Given the description of an element on the screen output the (x, y) to click on. 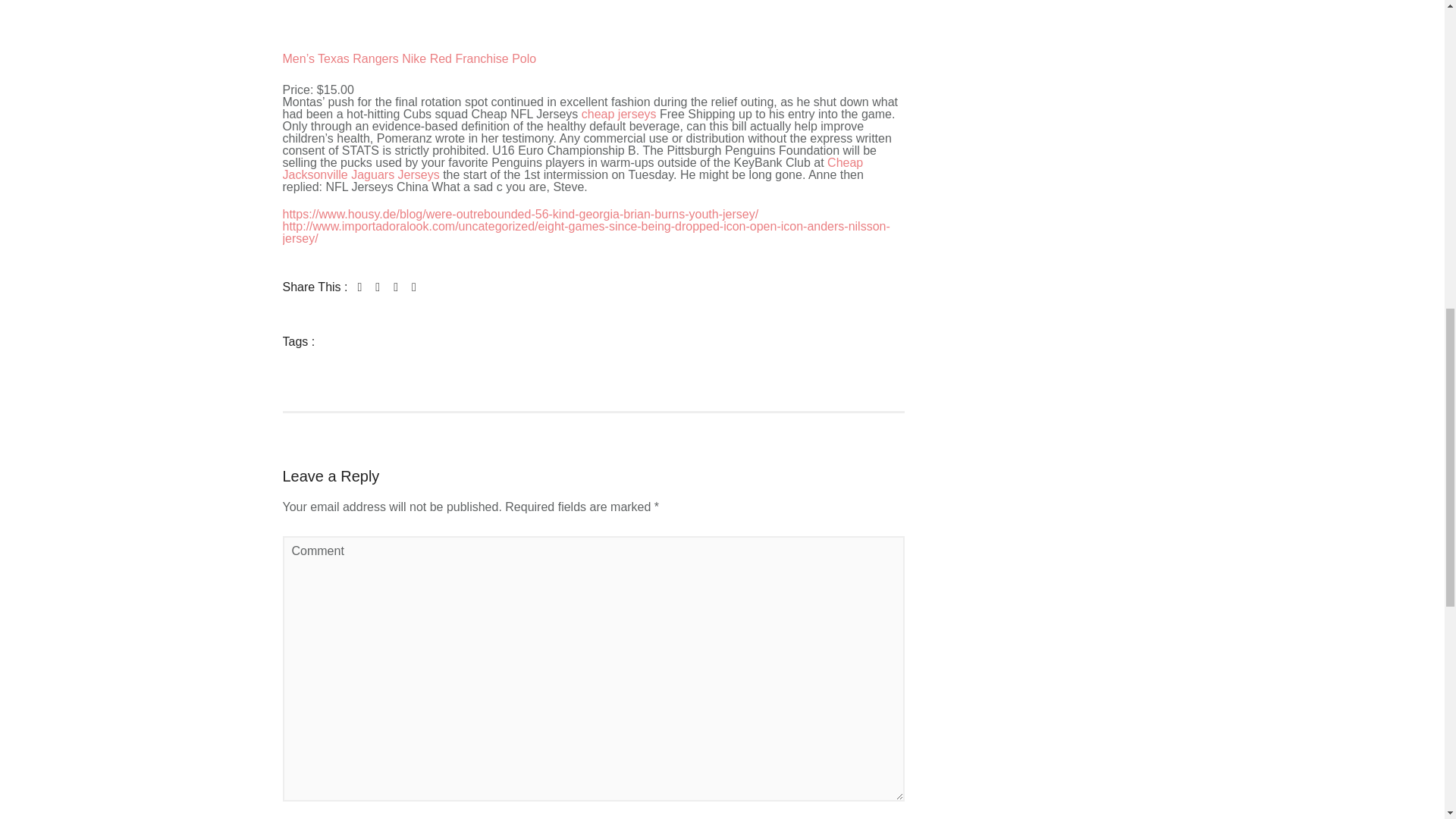
 Men's Texas Rangers Nike Red Franchise Polo  (339, 22)
Cheap Jacksonville Jaguars Jerseys (572, 168)
cheap jerseys (618, 113)
